Given the description of an element on the screen output the (x, y) to click on. 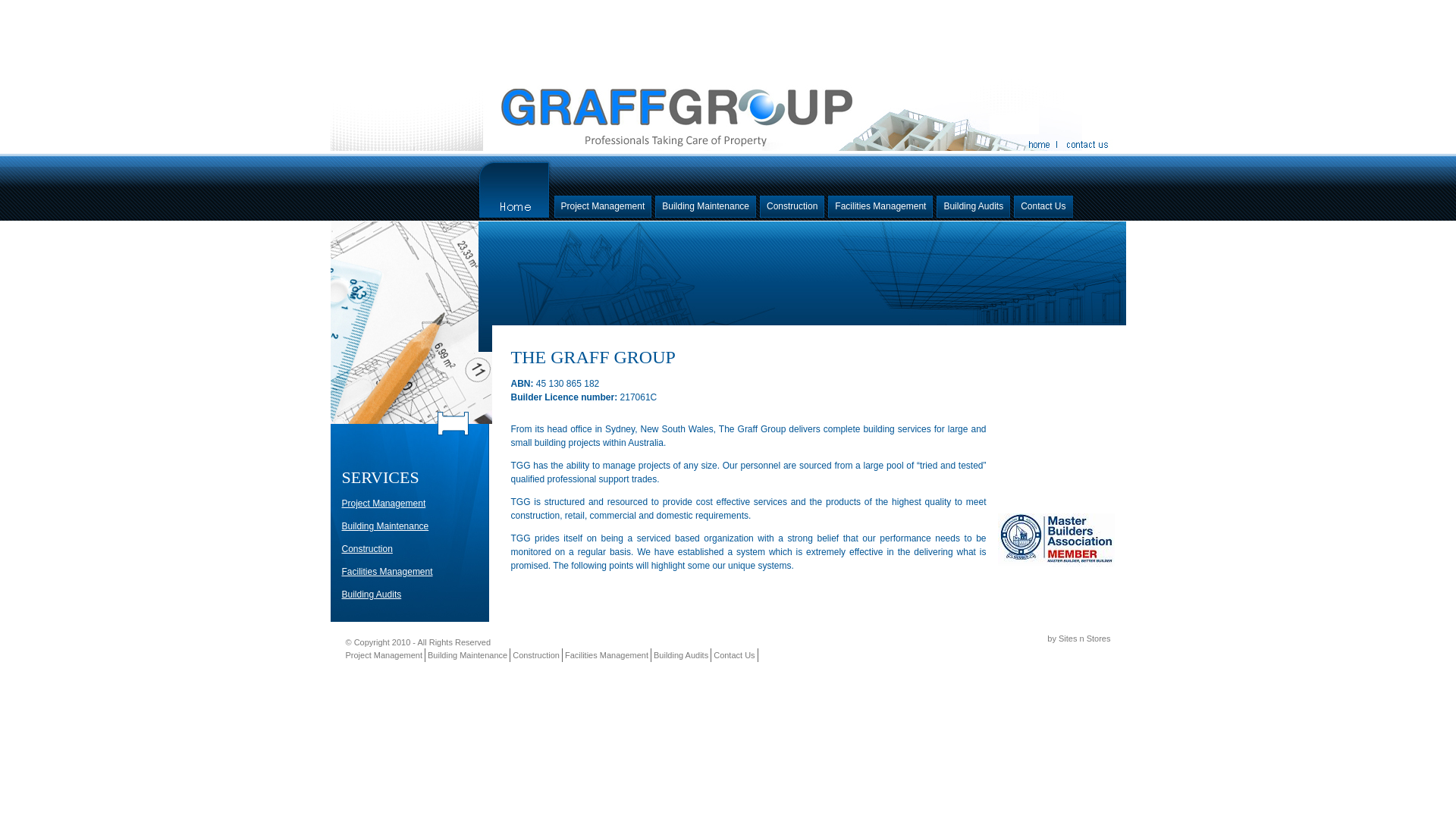
Web Design Element type: text (1022, 638)
Contact Us Element type: text (735, 655)
Construction Element type: text (366, 548)
Building Audits Element type: text (371, 594)
Construction Element type: text (537, 655)
Building Maintenance Element type: text (468, 655)
Construction Element type: text (791, 207)
Building Maintenance Element type: text (705, 207)
Project Management Element type: text (383, 503)
Facilities Management Element type: text (386, 571)
Building Audits Element type: text (973, 207)
Contact Us Element type: text (1042, 207)
Facilities Management Element type: text (880, 207)
Project Management Element type: text (385, 655)
Building Maintenance Element type: text (384, 525)
Project Management Element type: text (602, 207)
Building Audits Element type: text (682, 655)
Facilities Management Element type: text (607, 655)
